Given the description of an element on the screen output the (x, y) to click on. 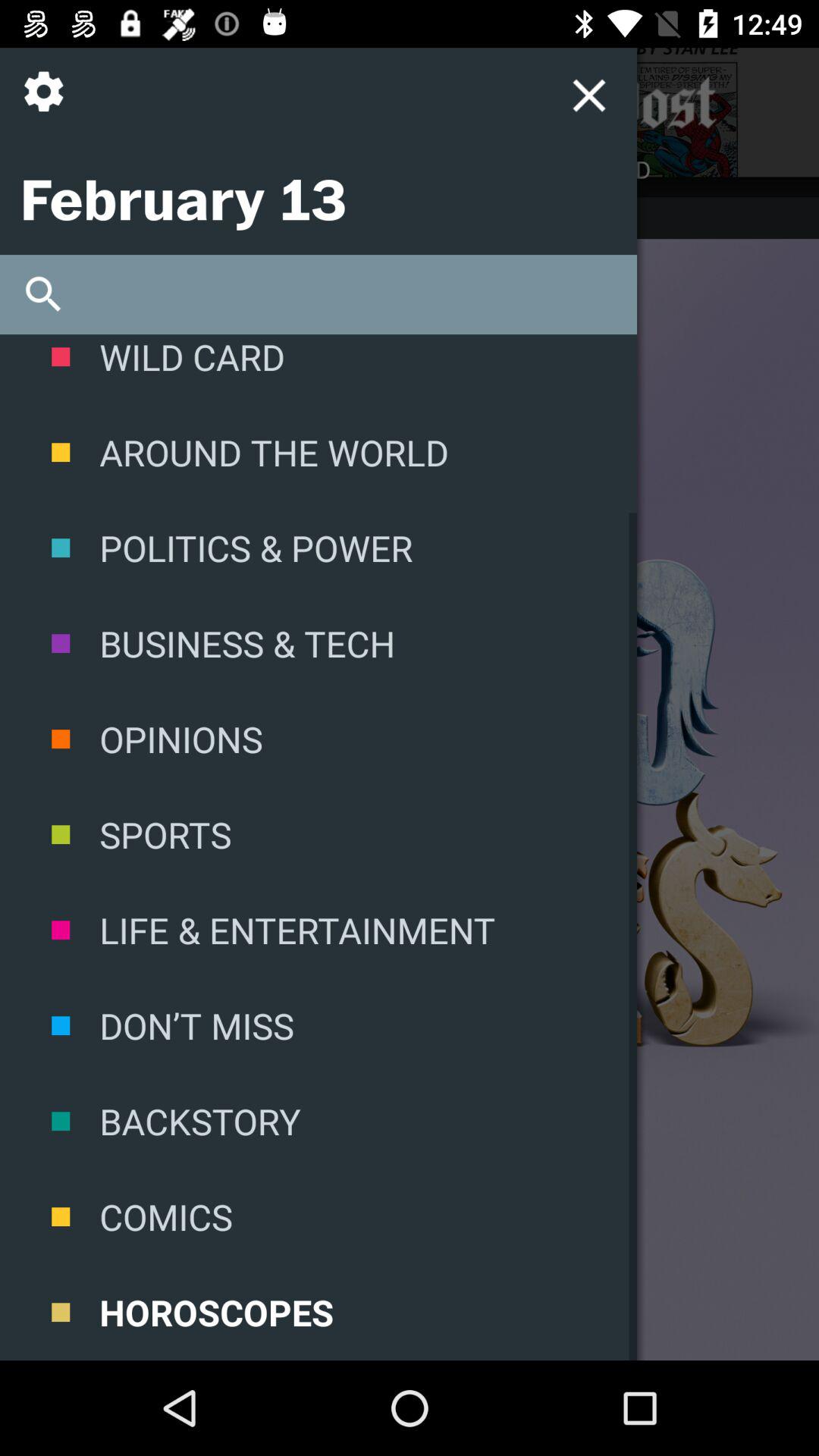
close menu (442, 103)
